Given the description of an element on the screen output the (x, y) to click on. 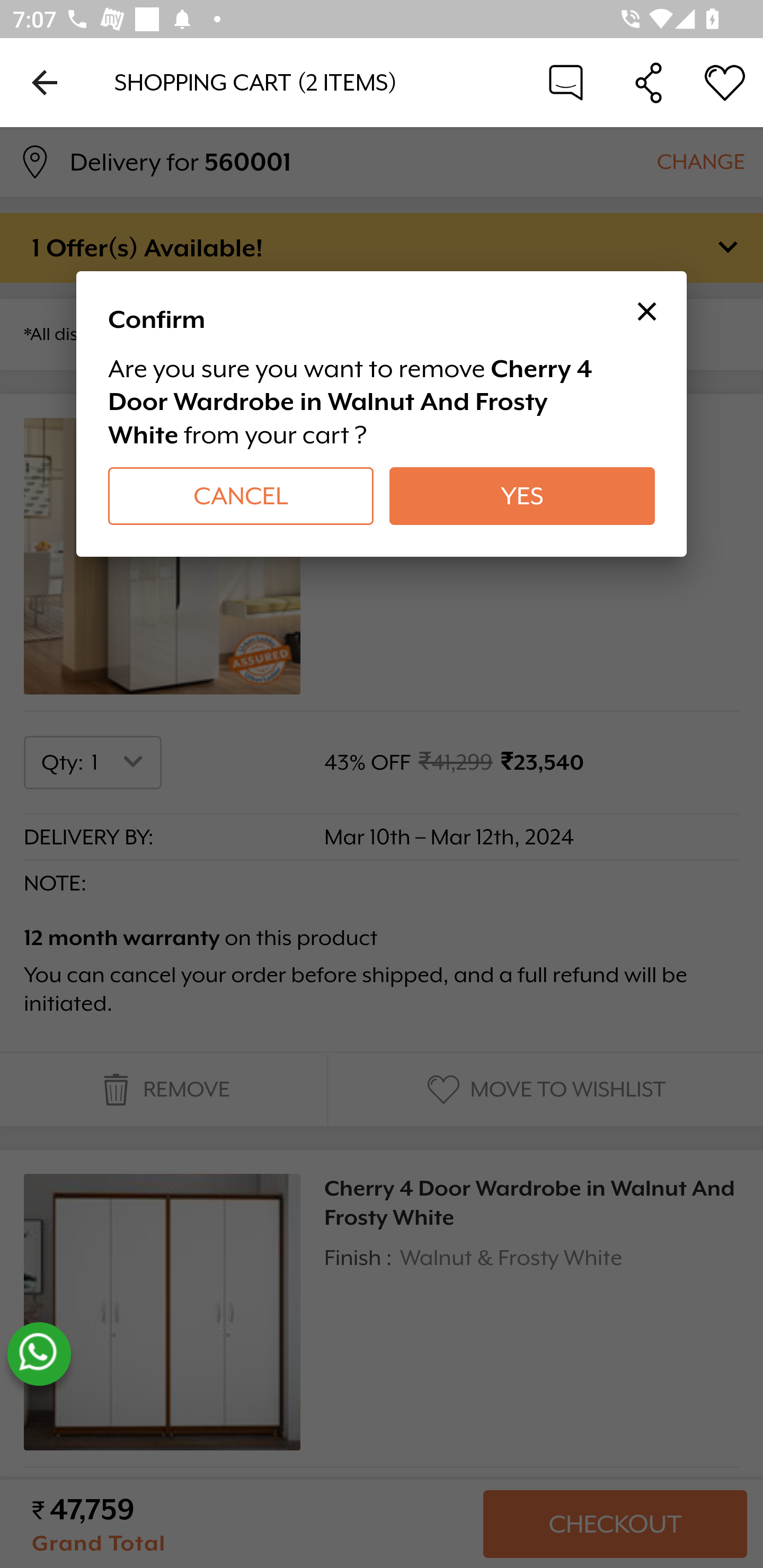
Navigate up (44, 82)
Chat (565, 81)
Share Cart (648, 81)
Wishlist (724, 81)
CANCEL (240, 496)
YES (521, 496)
whatsapp (38, 1353)
